Given the description of an element on the screen output the (x, y) to click on. 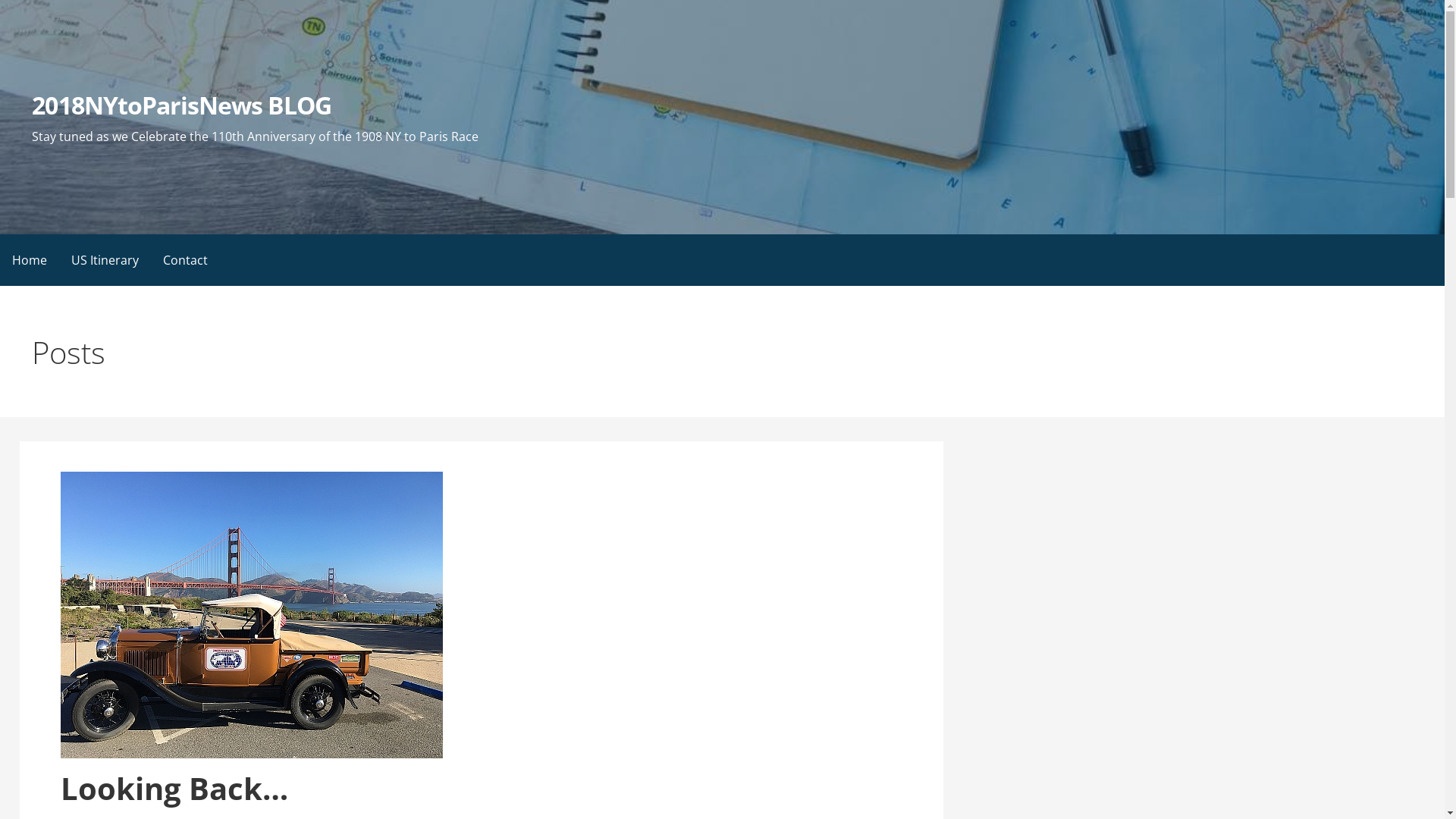
US Itinerary Element type: text (104, 259)
Contact Element type: text (184, 259)
2018NYtoParisNews BLOG Element type: text (181, 104)
Home Element type: text (29, 259)
